Given the description of an element on the screen output the (x, y) to click on. 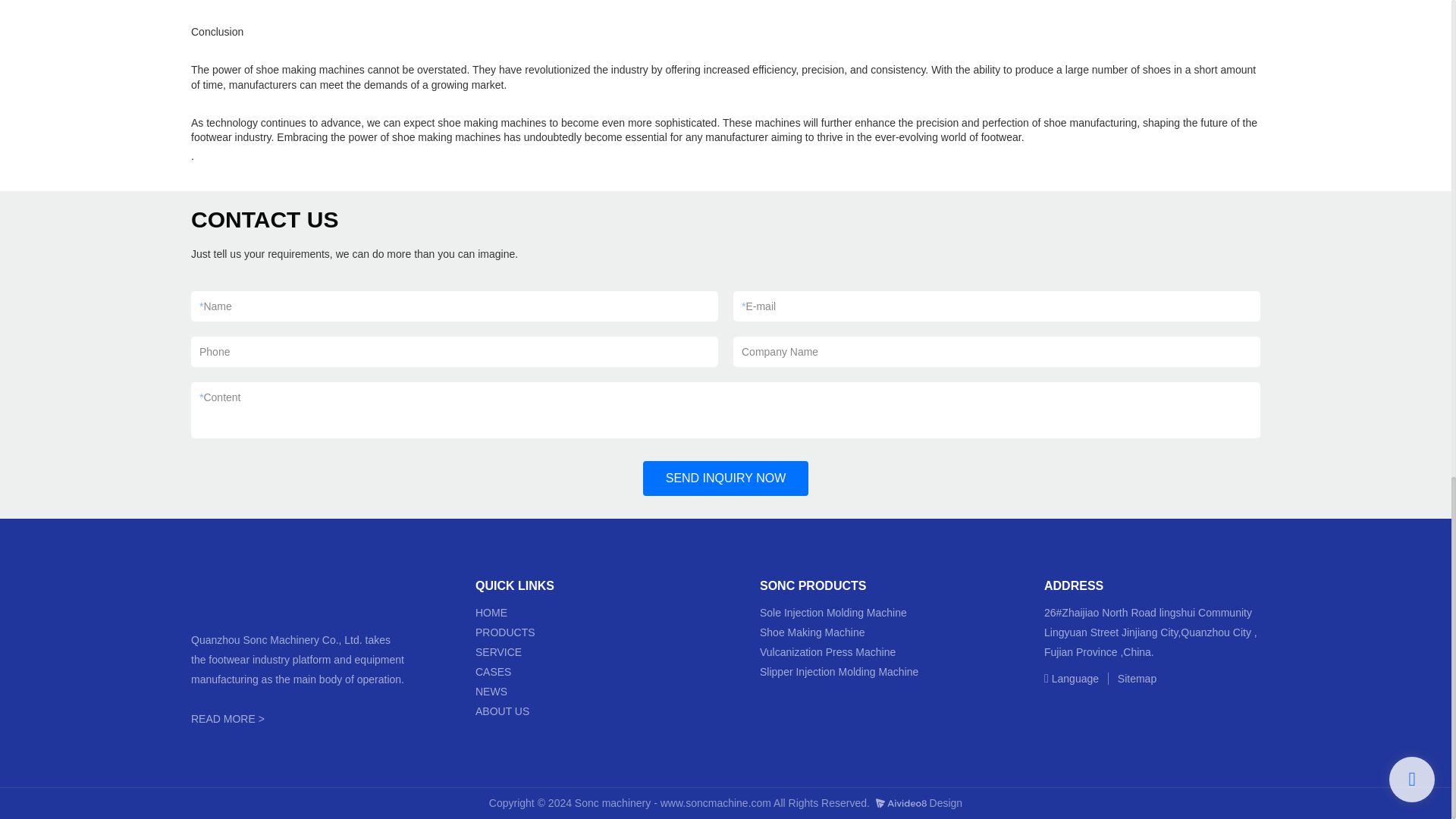
ABOUT US (502, 711)
Shoe Making Machine (812, 632)
Sole Injection Molding Machine (833, 612)
PRODUCTS  (506, 632)
SERVICE  (500, 652)
HOME (491, 612)
SEND INQUIRY NOW (726, 478)
Vulcanization Press Machine (827, 652)
CASES  (494, 671)
NEWS (491, 691)
